Given the description of an element on the screen output the (x, y) to click on. 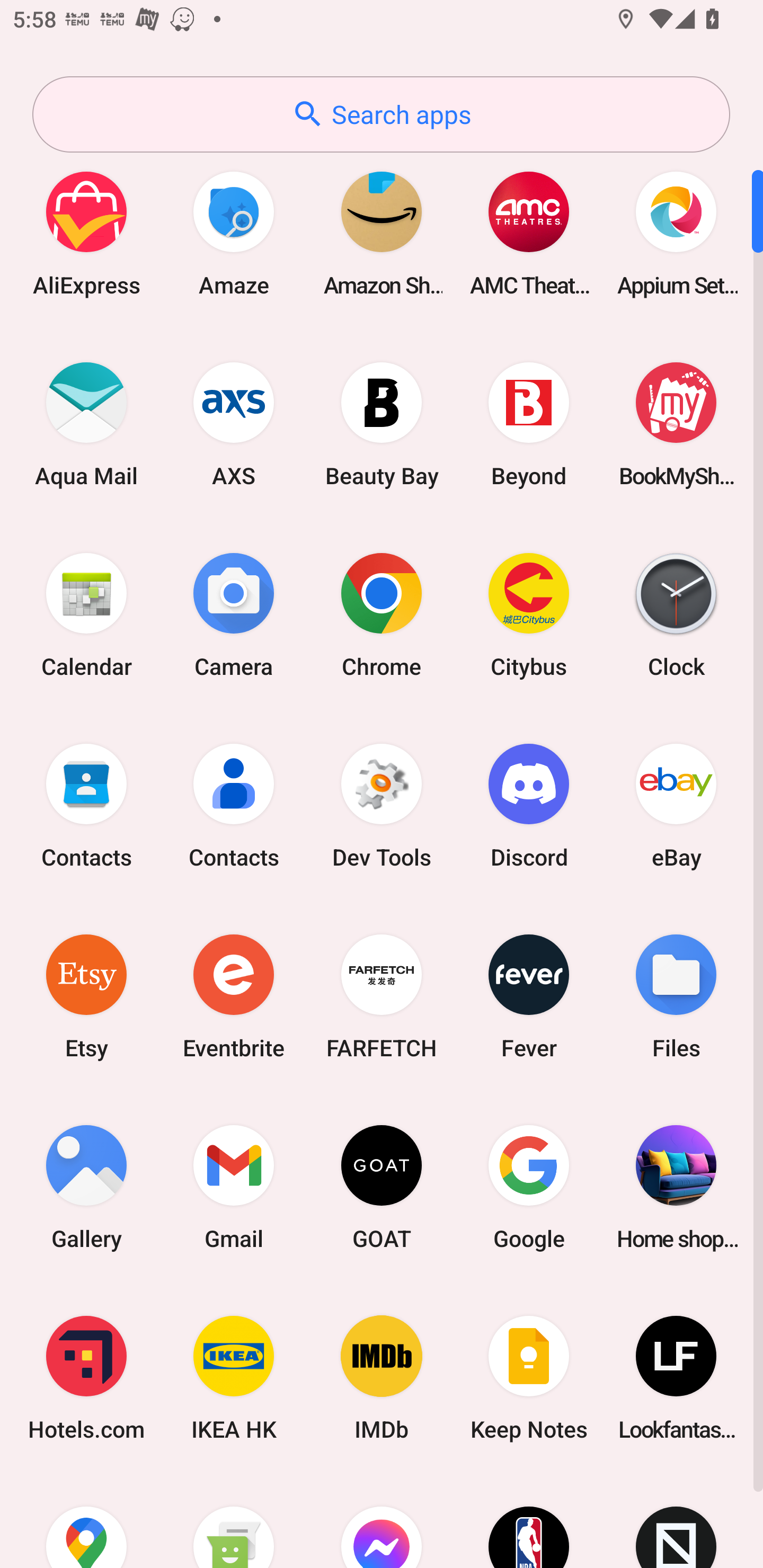
  Search apps (381, 114)
AliExpress (86, 233)
Amaze (233, 233)
Amazon Shopping (381, 233)
AMC Theatres (528, 233)
Appium Settings (676, 233)
Aqua Mail (86, 424)
AXS (233, 424)
Beauty Bay (381, 424)
Beyond (528, 424)
BookMyShow (676, 424)
Calendar (86, 614)
Camera (233, 614)
Chrome (381, 614)
Citybus (528, 614)
Clock (676, 614)
Contacts (86, 805)
Contacts (233, 805)
Dev Tools (381, 805)
Discord (528, 805)
eBay (676, 805)
Etsy (86, 996)
Eventbrite (233, 996)
FARFETCH (381, 996)
Fever (528, 996)
Files (676, 996)
Gallery (86, 1186)
Gmail (233, 1186)
GOAT (381, 1186)
Google (528, 1186)
Home shopping (676, 1186)
Hotels.com (86, 1377)
IKEA HK (233, 1377)
IMDb (381, 1377)
Keep Notes (528, 1377)
Lookfantastic (676, 1377)
Maps (86, 1520)
Messaging (233, 1520)
Messenger (381, 1520)
NBA (528, 1520)
Novelship (676, 1520)
